Given the description of an element on the screen output the (x, y) to click on. 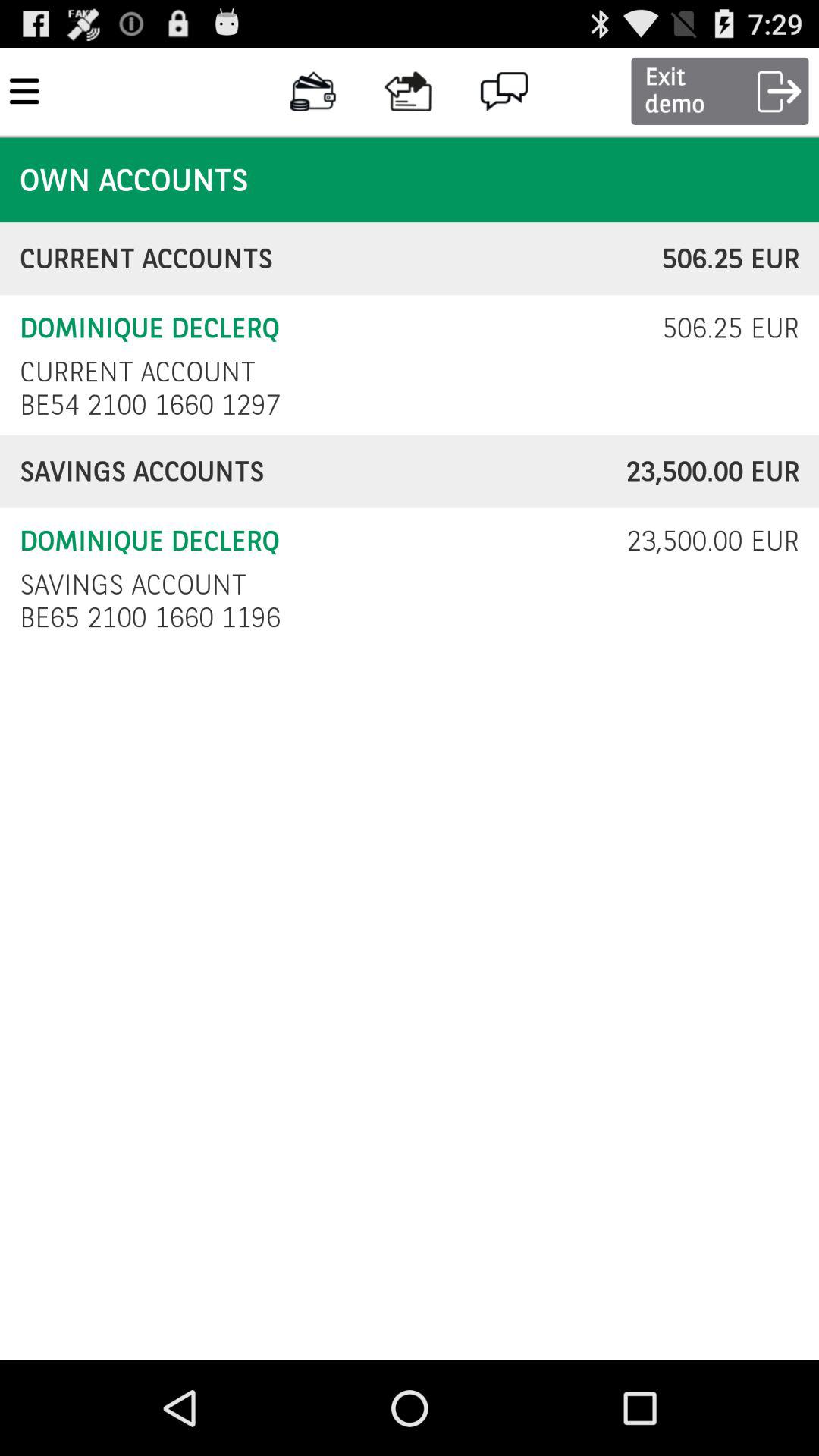
select icon to the left of 506.25 eur icon (137, 371)
